Given the description of an element on the screen output the (x, y) to click on. 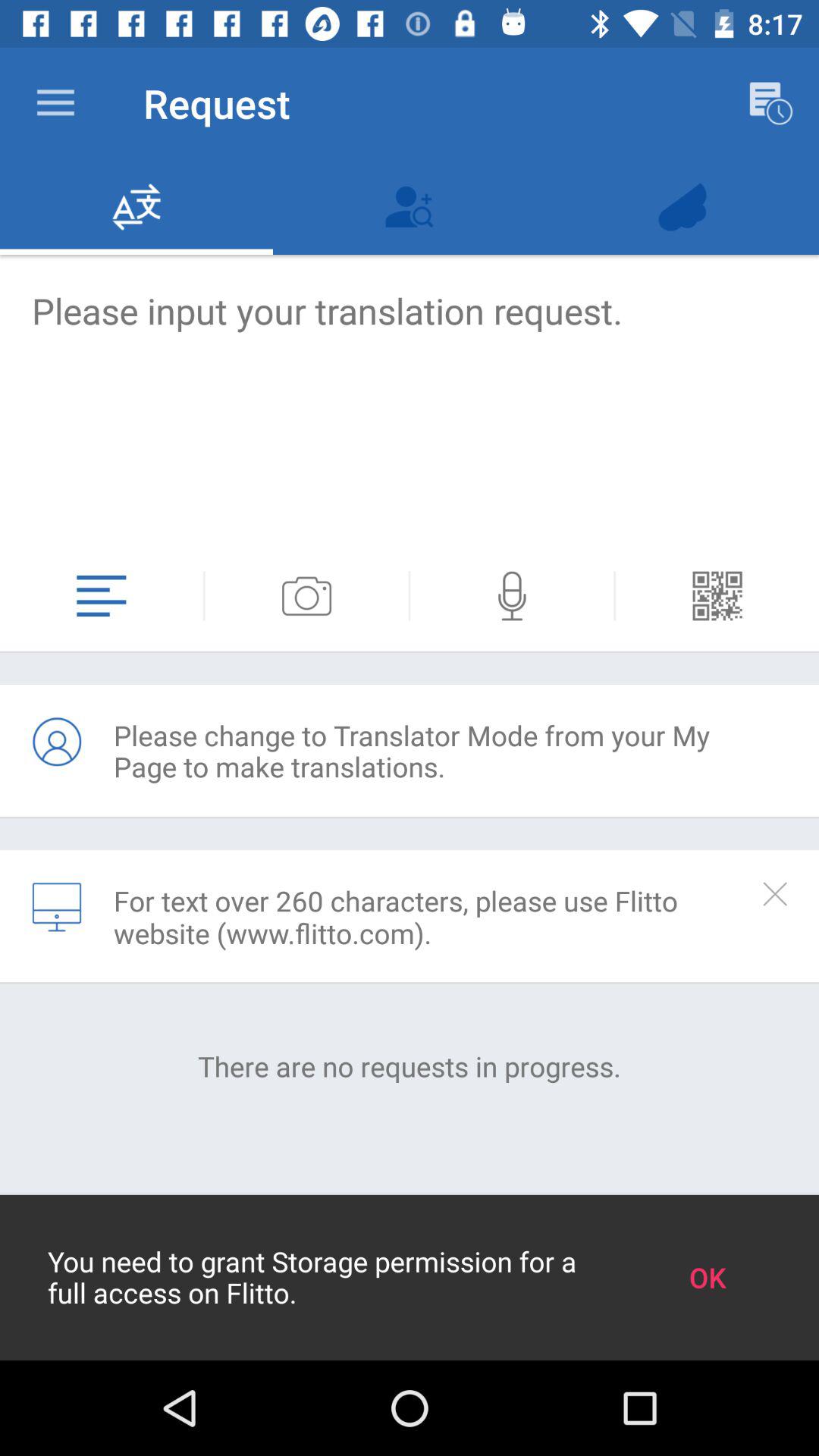
tap the app next to the request (55, 103)
